Given the description of an element on the screen output the (x, y) to click on. 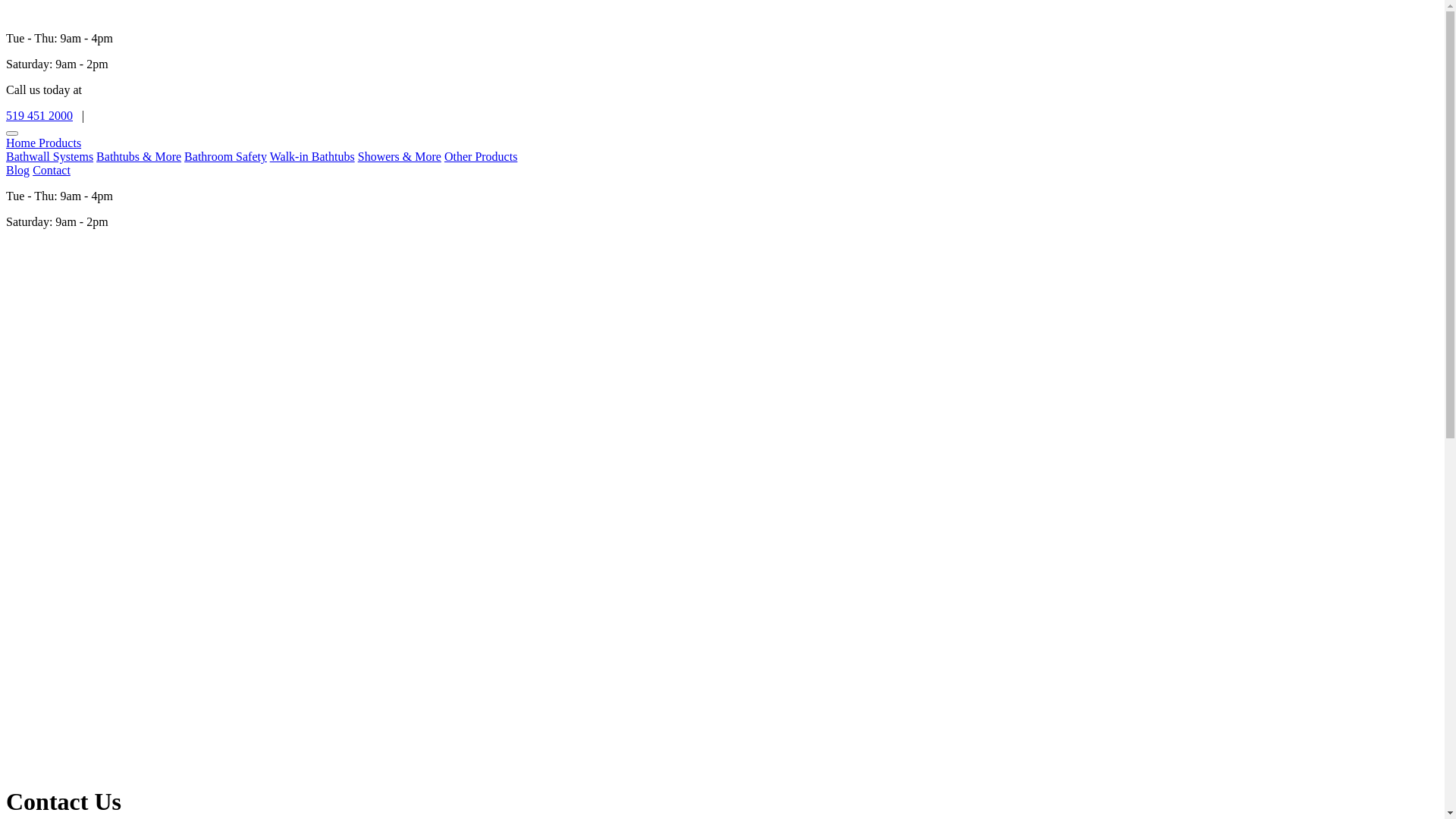
Bathroom Safety Element type: text (225, 156)
Bathwall Systems Element type: text (49, 156)
Other Products Element type: text (480, 156)
Home
(current) Element type: text (22, 142)
Walk-in Bathtubs Element type: text (311, 156)
Showers & More Element type: text (399, 156)
Bathtubs & More Element type: text (138, 156)
Products Element type: text (59, 142)
519 451 2000 Element type: text (39, 115)
Blog Element type: text (17, 169)
Contact Element type: text (51, 169)
